Given the description of an element on the screen output the (x, y) to click on. 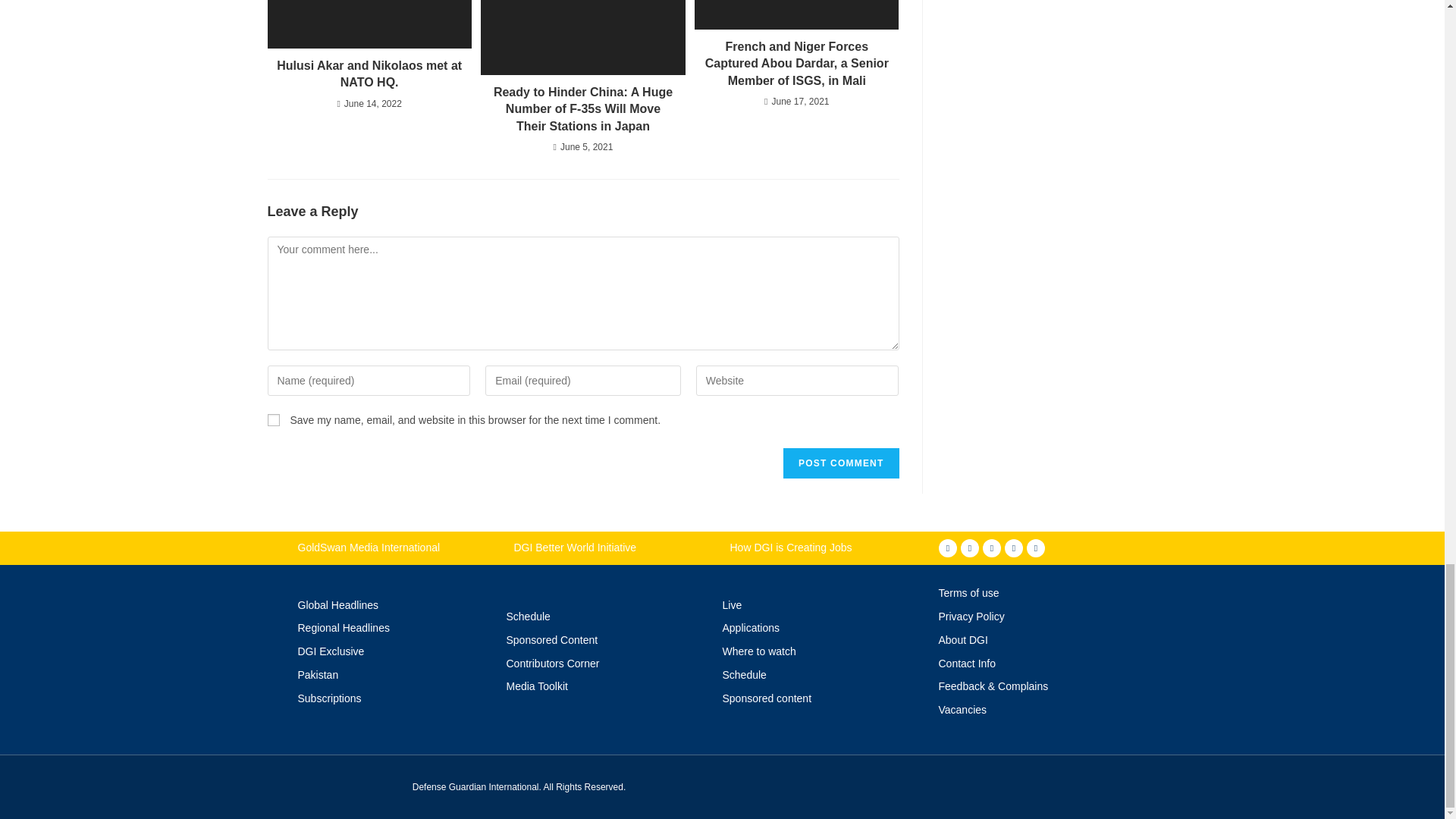
yes (272, 419)
Post Comment (840, 462)
